Given the description of an element on the screen output the (x, y) to click on. 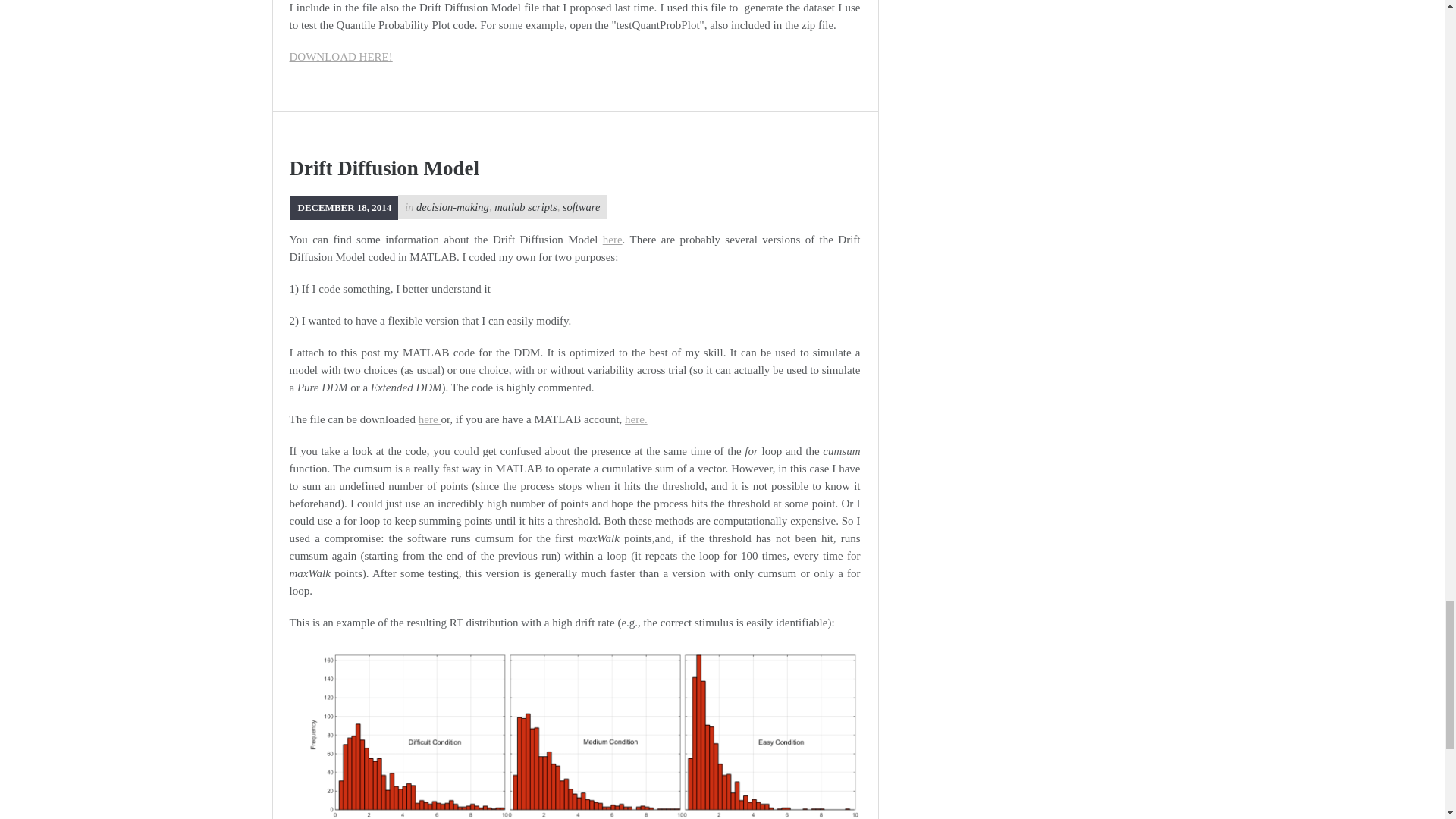
Drift Diffusion Model (384, 168)
here (430, 419)
here (612, 239)
DECEMBER 18, 2014 (344, 206)
software (580, 206)
matlab scripts (526, 206)
here. (635, 419)
decision-making (452, 206)
Drift Diffusion Model (344, 206)
Drift Diffusion Model (384, 168)
DOWNLOAD HERE! (341, 56)
